Given the description of an element on the screen output the (x, y) to click on. 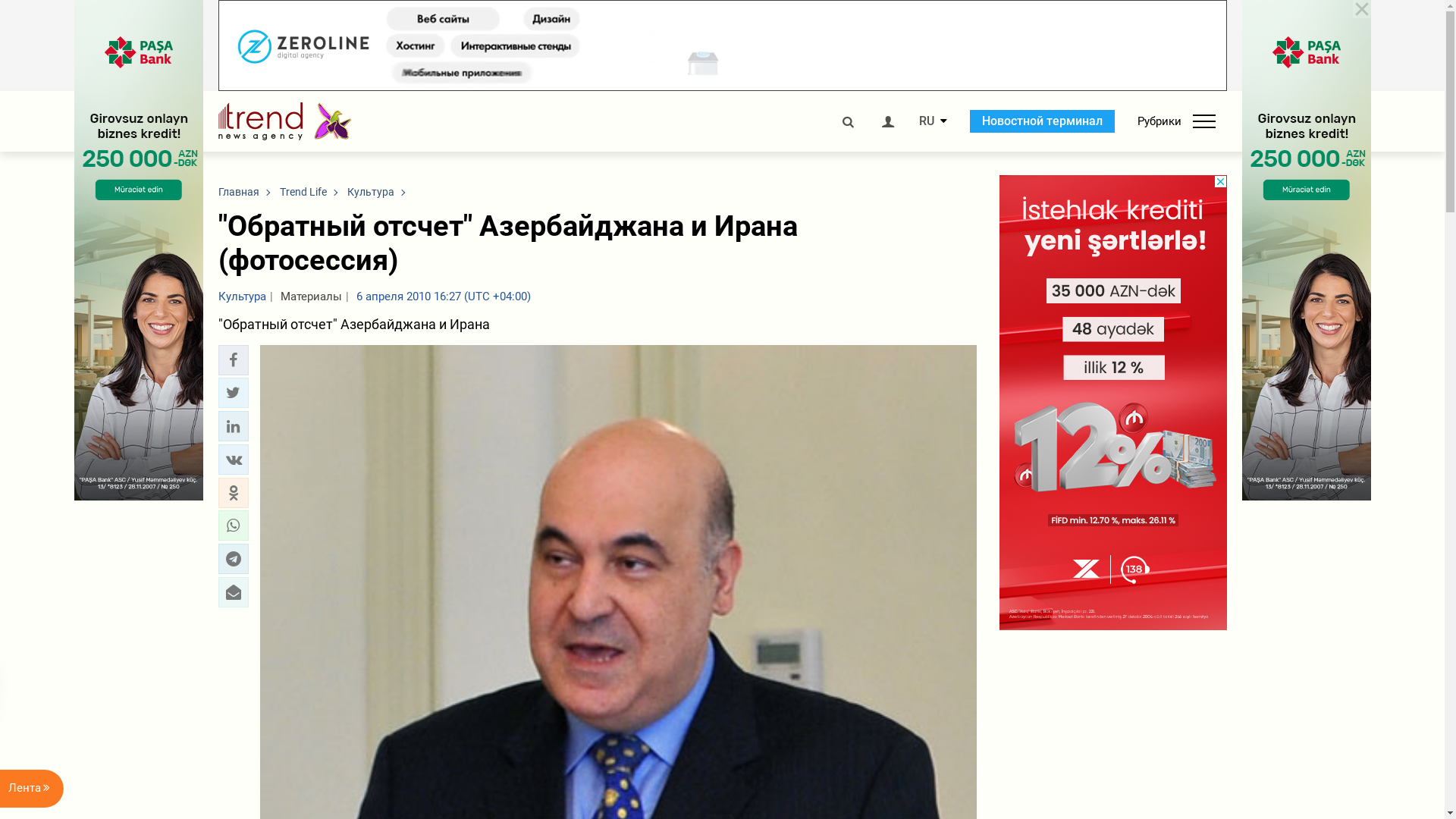
3rd party ad content Element type: hover (722, 45)
3rd party ad content Element type: hover (1112, 402)
RU Element type: text (926, 121)
Trend Life Element type: text (302, 191)
